Given the description of an element on the screen output the (x, y) to click on. 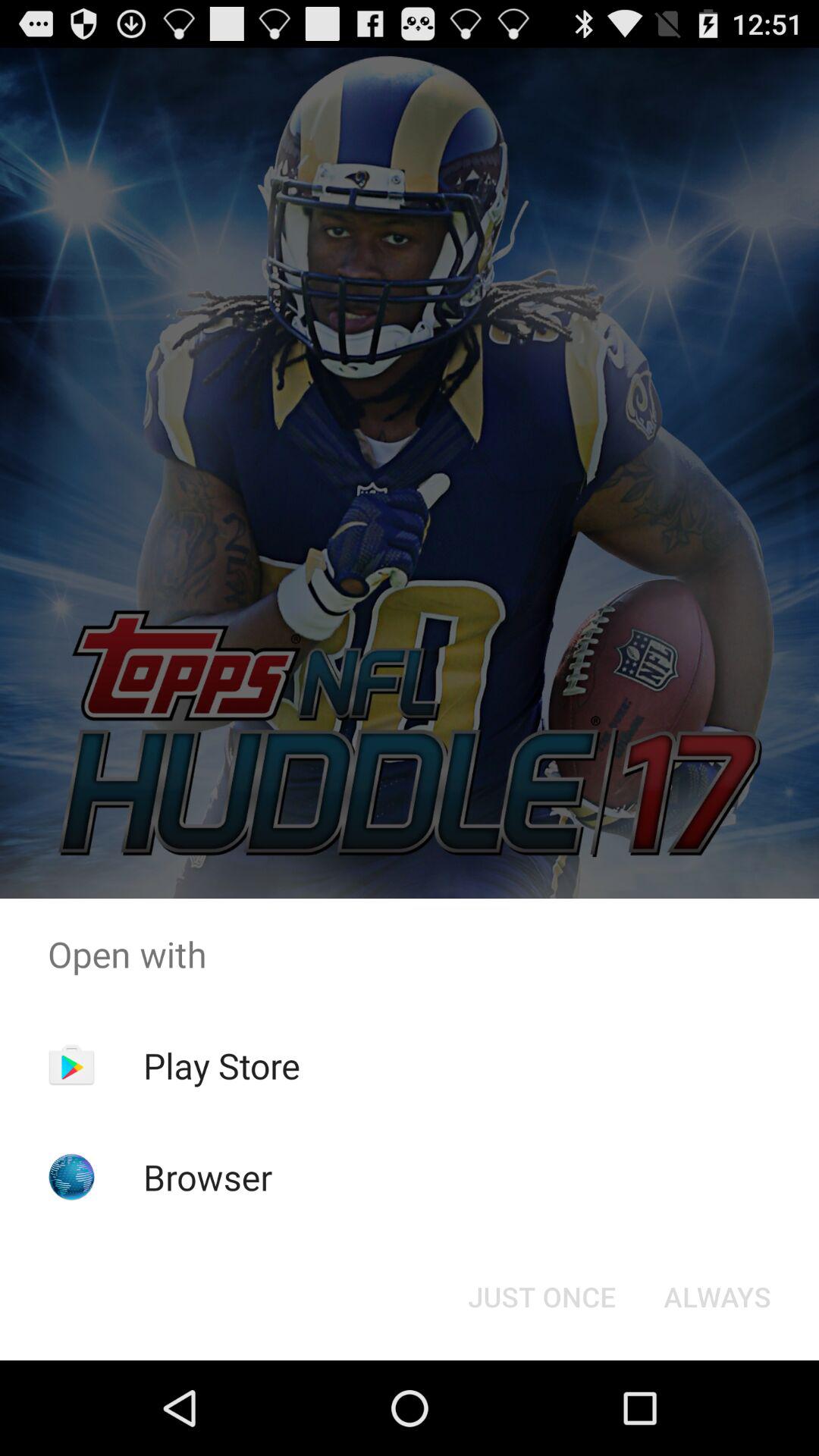
turn off browser app (207, 1176)
